Given the description of an element on the screen output the (x, y) to click on. 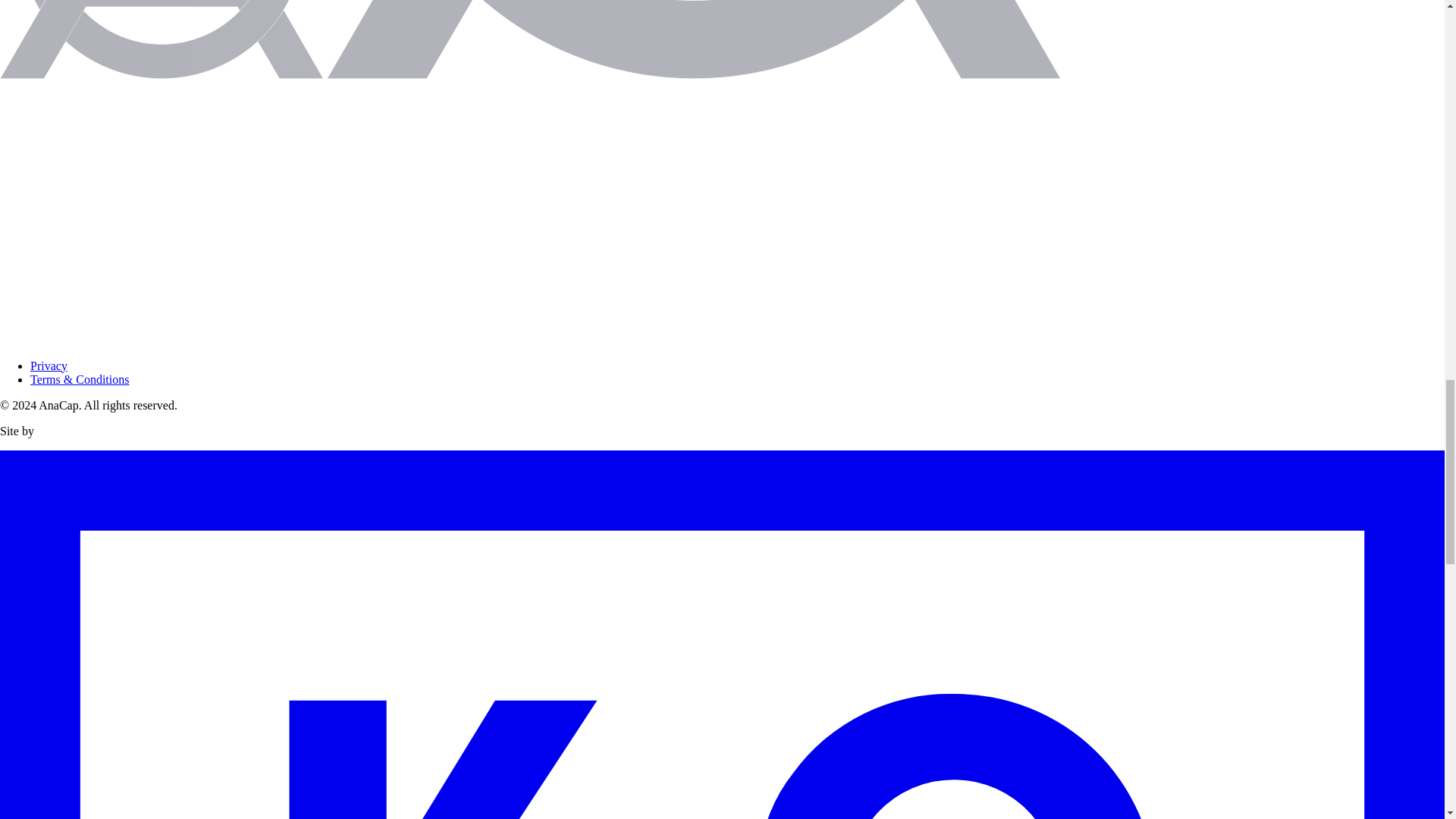
Privacy (48, 365)
